Given the description of an element on the screen output the (x, y) to click on. 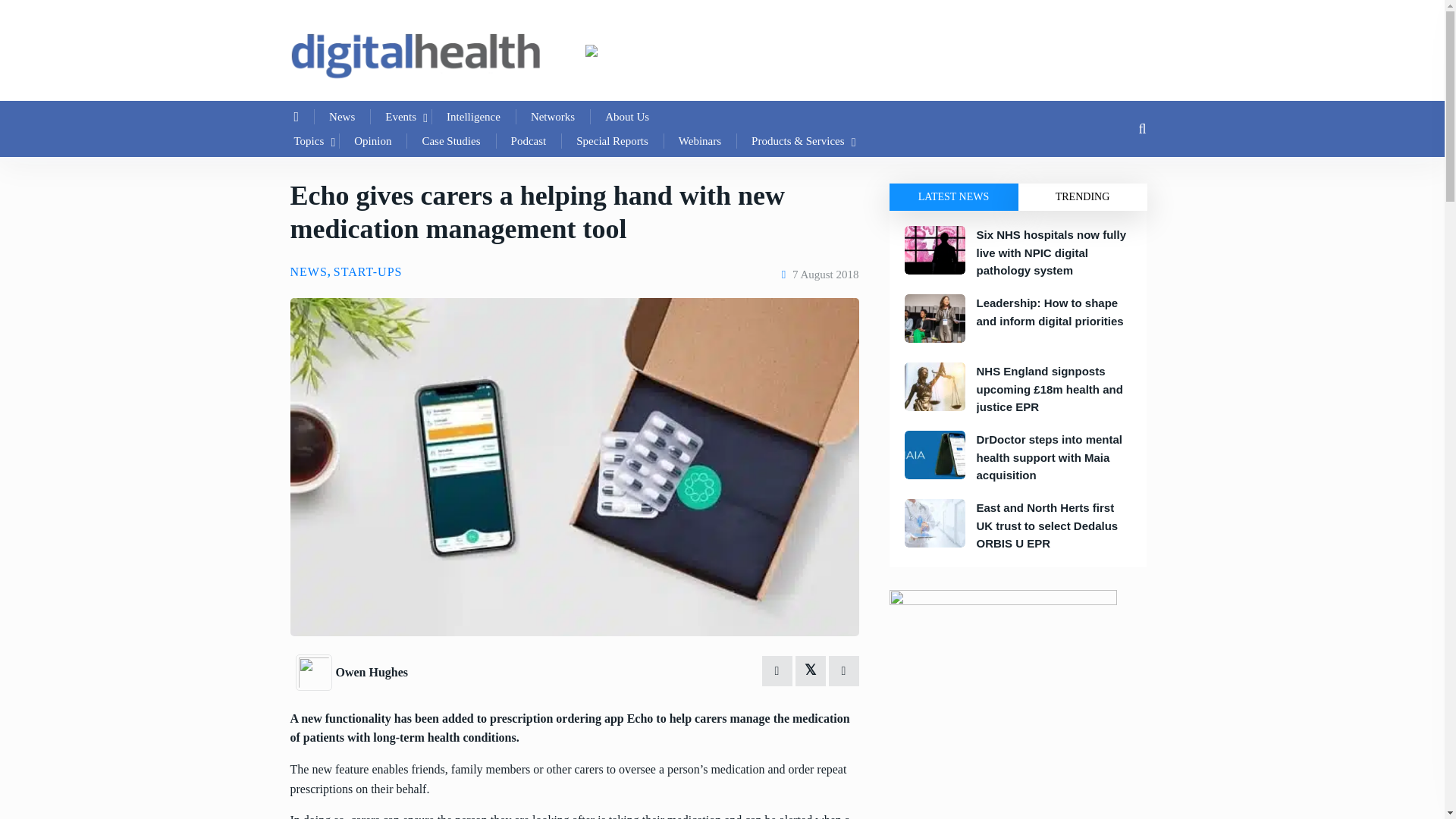
Case Studies (450, 140)
About Us (626, 116)
Home (296, 116)
Events (399, 116)
Opinion (372, 140)
Intelligence (472, 116)
Podcast (529, 140)
Topics (309, 140)
News (341, 116)
Networks (552, 116)
